Given the description of an element on the screen output the (x, y) to click on. 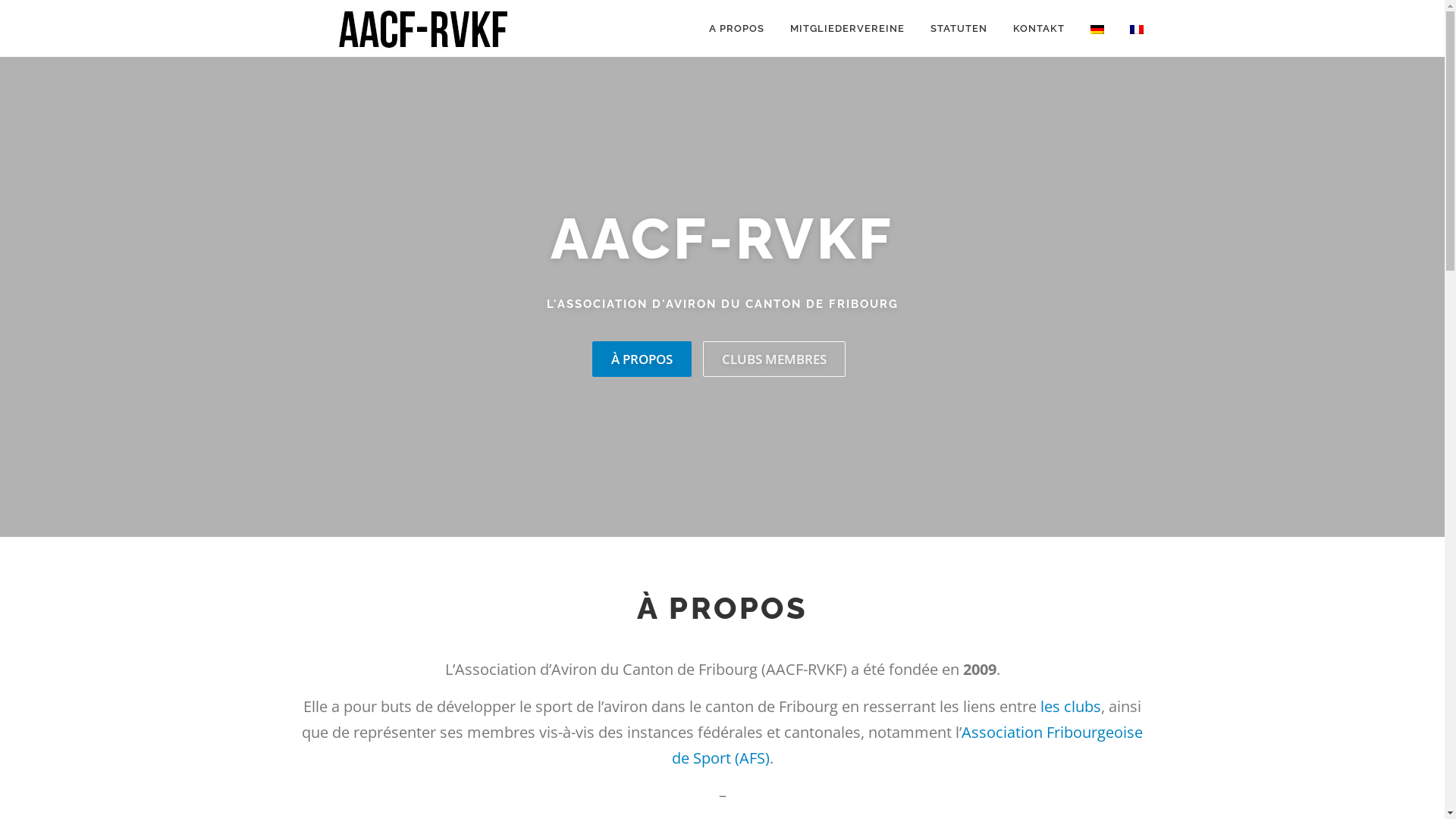
Skip to content Element type: text (37, 9)
STATUTEN Element type: text (958, 28)
MITGLIEDERVEREINE Element type: text (846, 28)
Association Fribourgeoise de Sport (AFS) Element type: text (907, 744)
CLUBS MEMBRES Element type: text (773, 358)
les clubs Element type: text (1070, 706)
A PROPOS Element type: text (736, 28)
KONTAKT Element type: text (1037, 28)
